Given the description of an element on the screen output the (x, y) to click on. 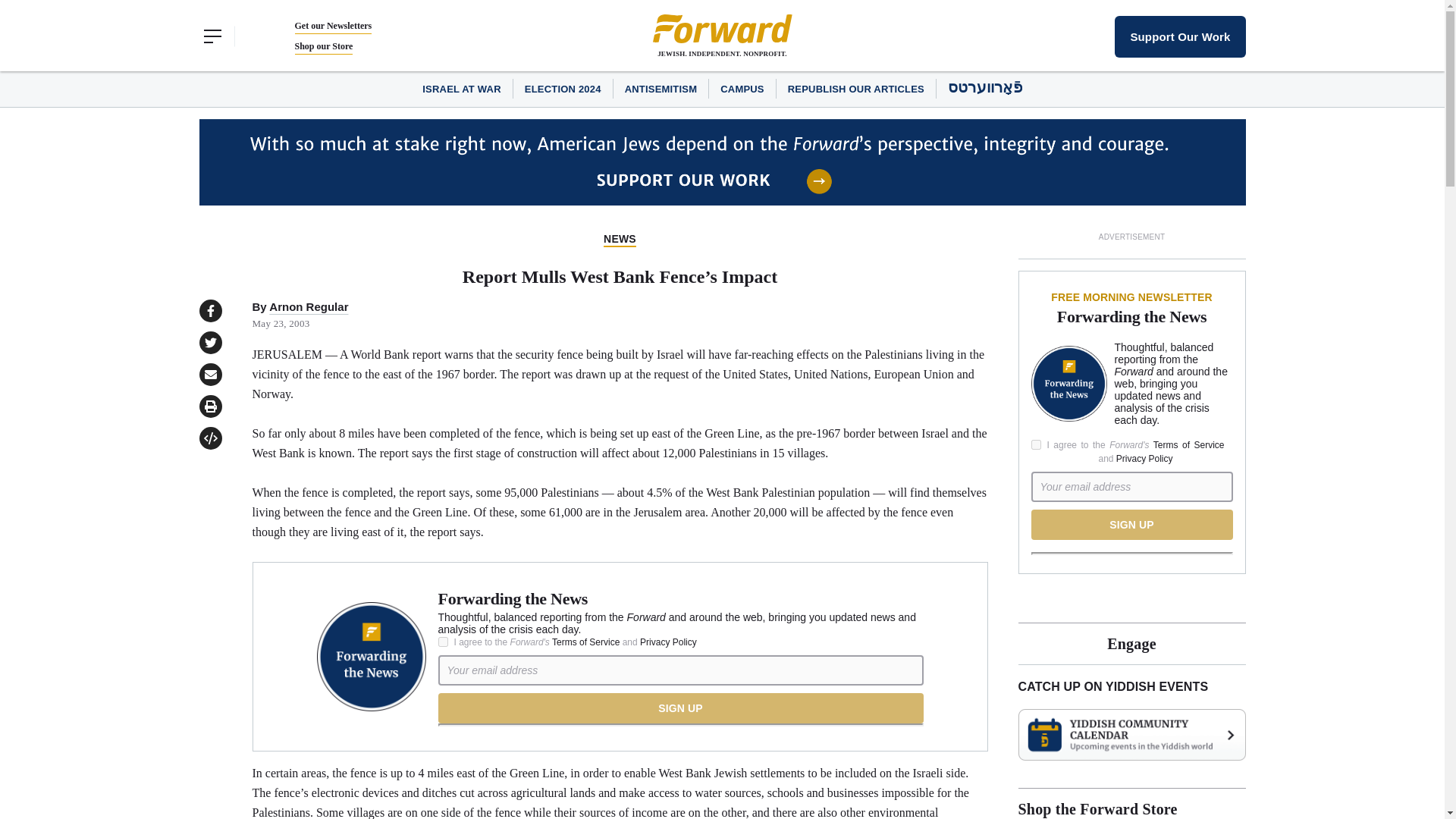
Sign Up (680, 707)
Yes (1035, 444)
Sign Up (1131, 524)
Click to open publish popup (209, 437)
ANTISEMITISM (660, 89)
ELECTION 2024 (562, 89)
Support Our Work (1179, 35)
Get our Newsletters (332, 26)
ISRAEL AT WAR (461, 89)
Shop our Store (323, 46)
